Given the description of an element on the screen output the (x, y) to click on. 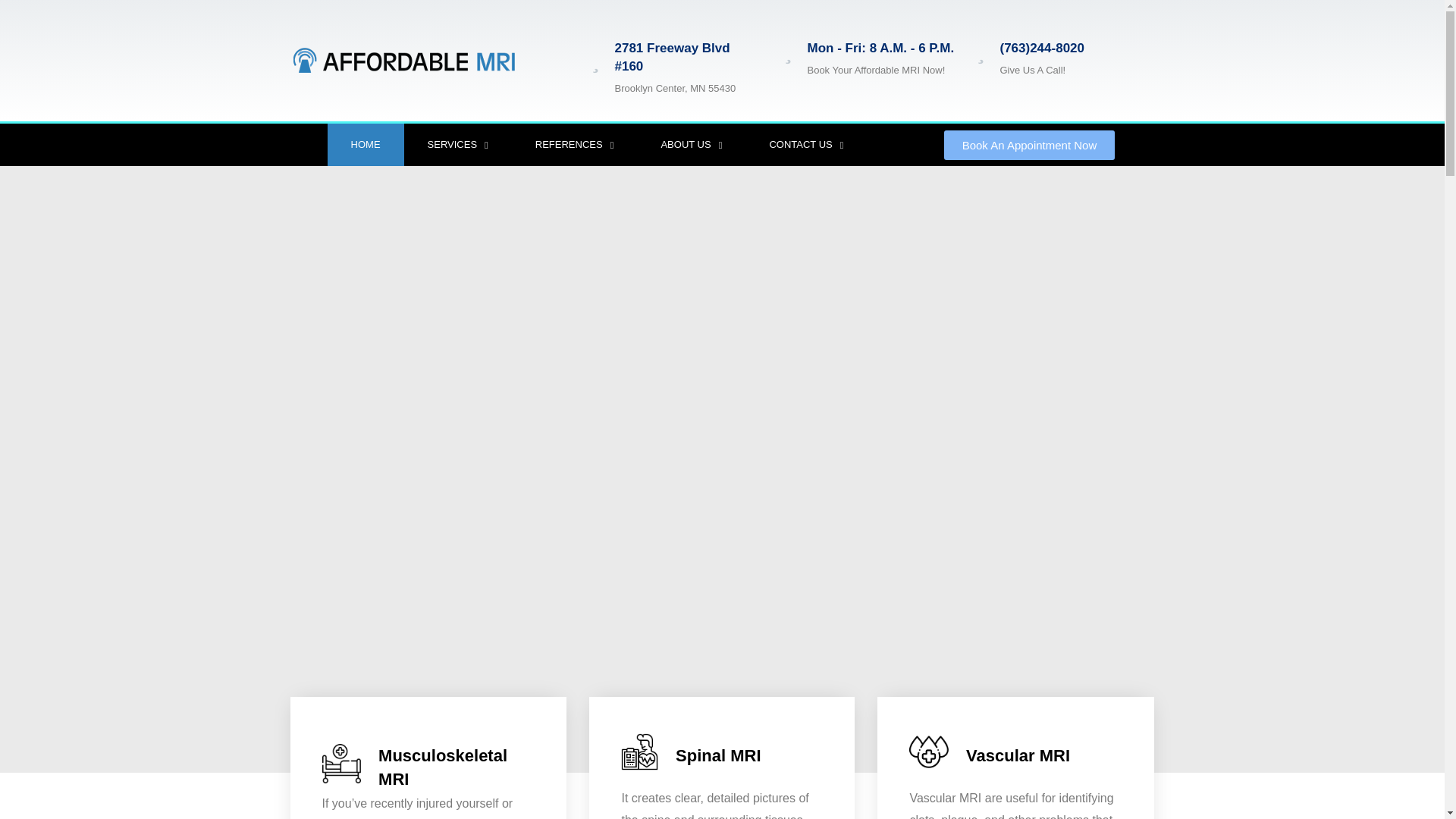
REFERENCES (574, 144)
SERVICES (458, 144)
HOME (365, 144)
CONTACT US (805, 144)
ABOUT US (691, 144)
